Given the description of an element on the screen output the (x, y) to click on. 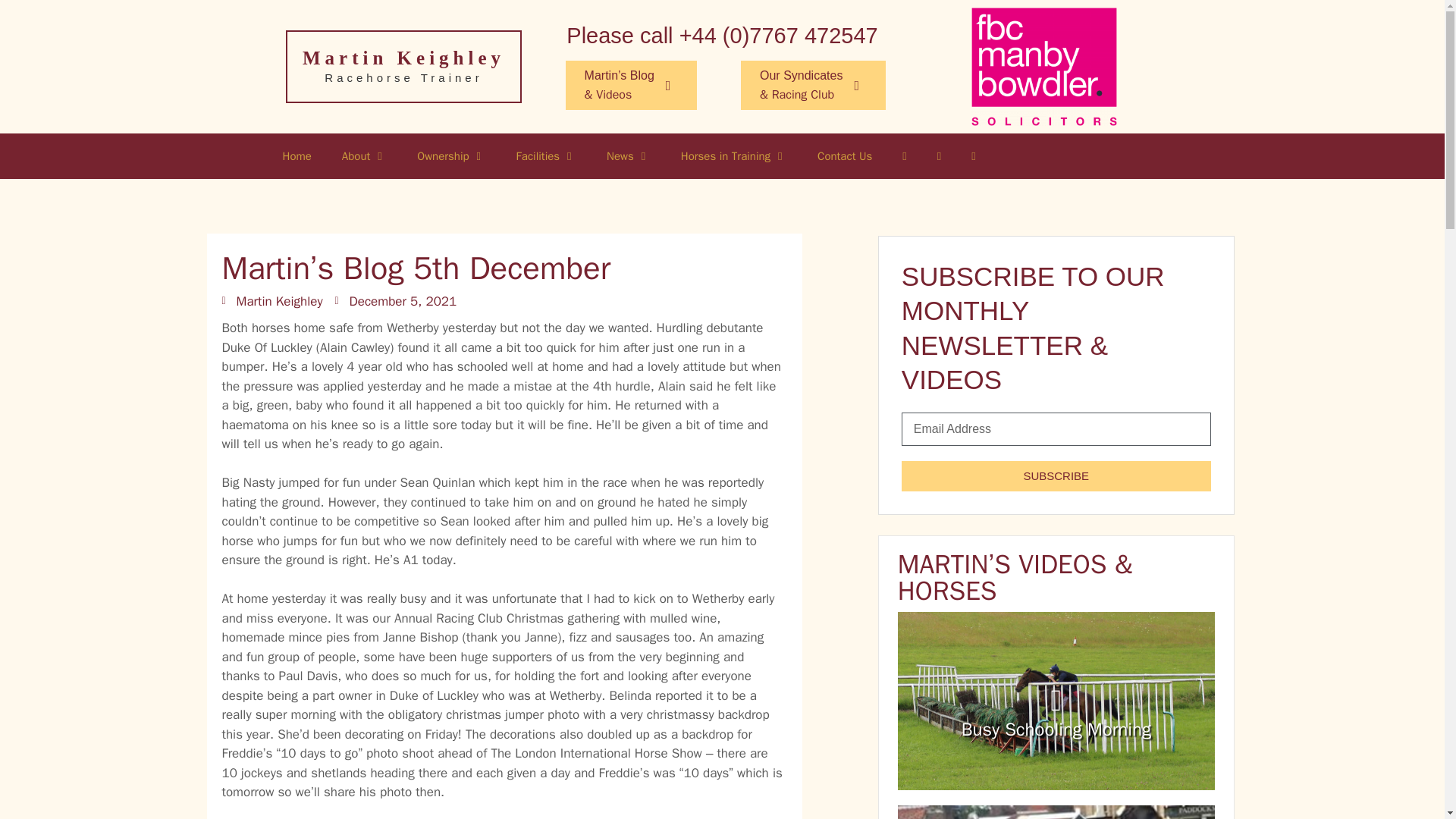
December 5, 2021 (395, 301)
Home (296, 156)
SUBSCRIBE (1056, 476)
News (628, 156)
Ownership (450, 156)
Horses in Training (733, 156)
Facilities (546, 156)
Contact Us (844, 156)
Martin Keighley (271, 301)
About (363, 156)
